Given the description of an element on the screen output the (x, y) to click on. 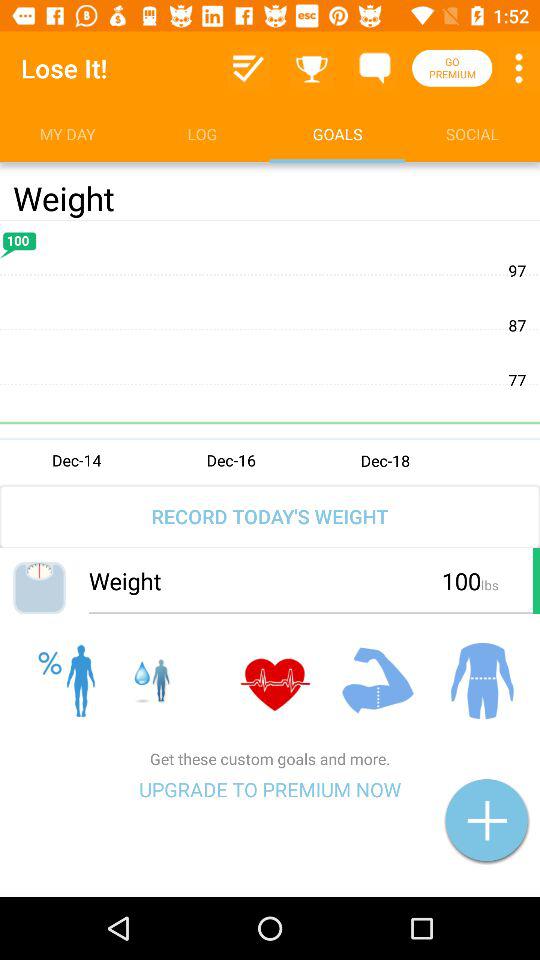
send message (374, 67)
